Given the description of an element on the screen output the (x, y) to click on. 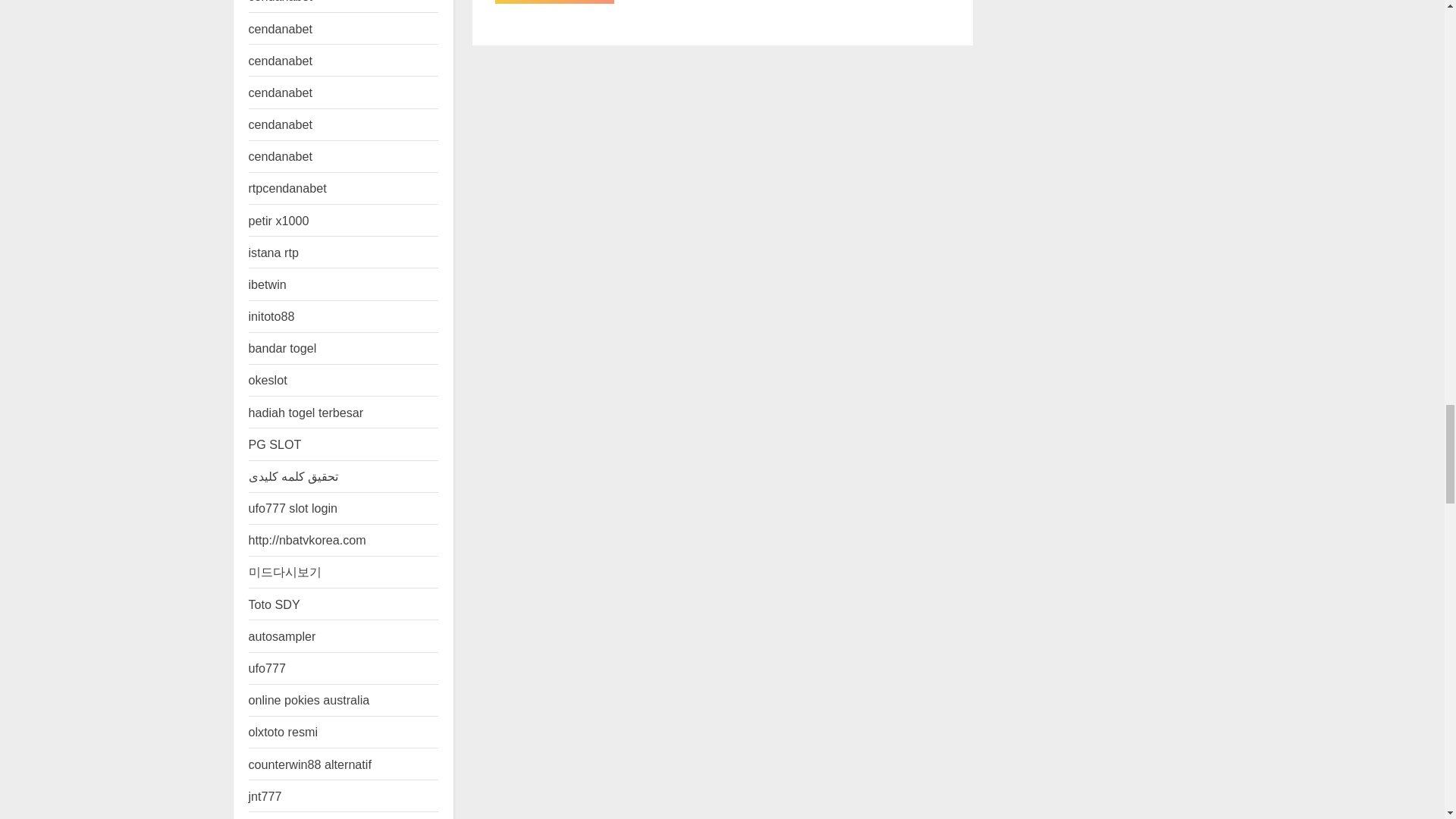
Post Comment (554, 1)
Post Comment (554, 1)
